Given the description of an element on the screen output the (x, y) to click on. 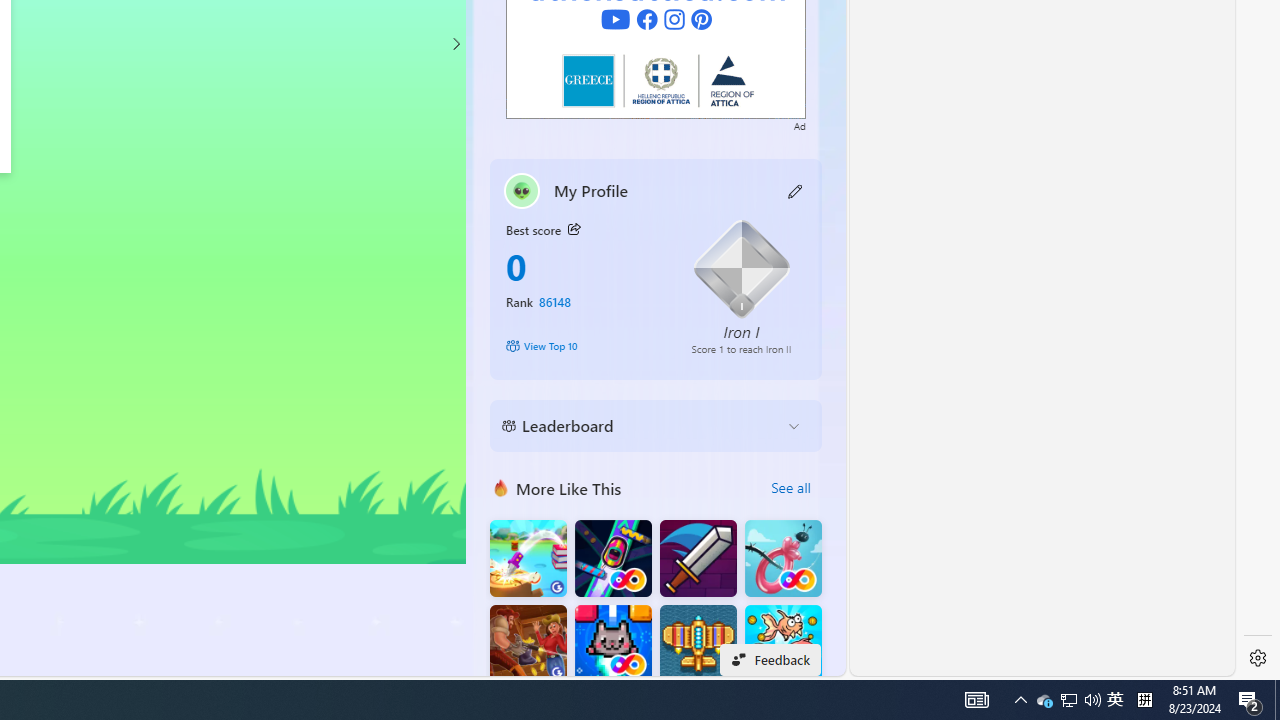
Knife Flip (528, 558)
Bumper Car FRVR (612, 558)
See all (790, 487)
Class: control (455, 43)
See all (790, 487)
Atlantic Sky Hunter (698, 643)
Saloon Robbery (528, 643)
Class: button (574, 229)
Dungeon Master Knight (698, 558)
Kitten Force FRVR (612, 643)
More Like This (501, 487)
Fish Merge FRVR (783, 643)
View Top 10 (584, 345)
